Given the description of an element on the screen output the (x, y) to click on. 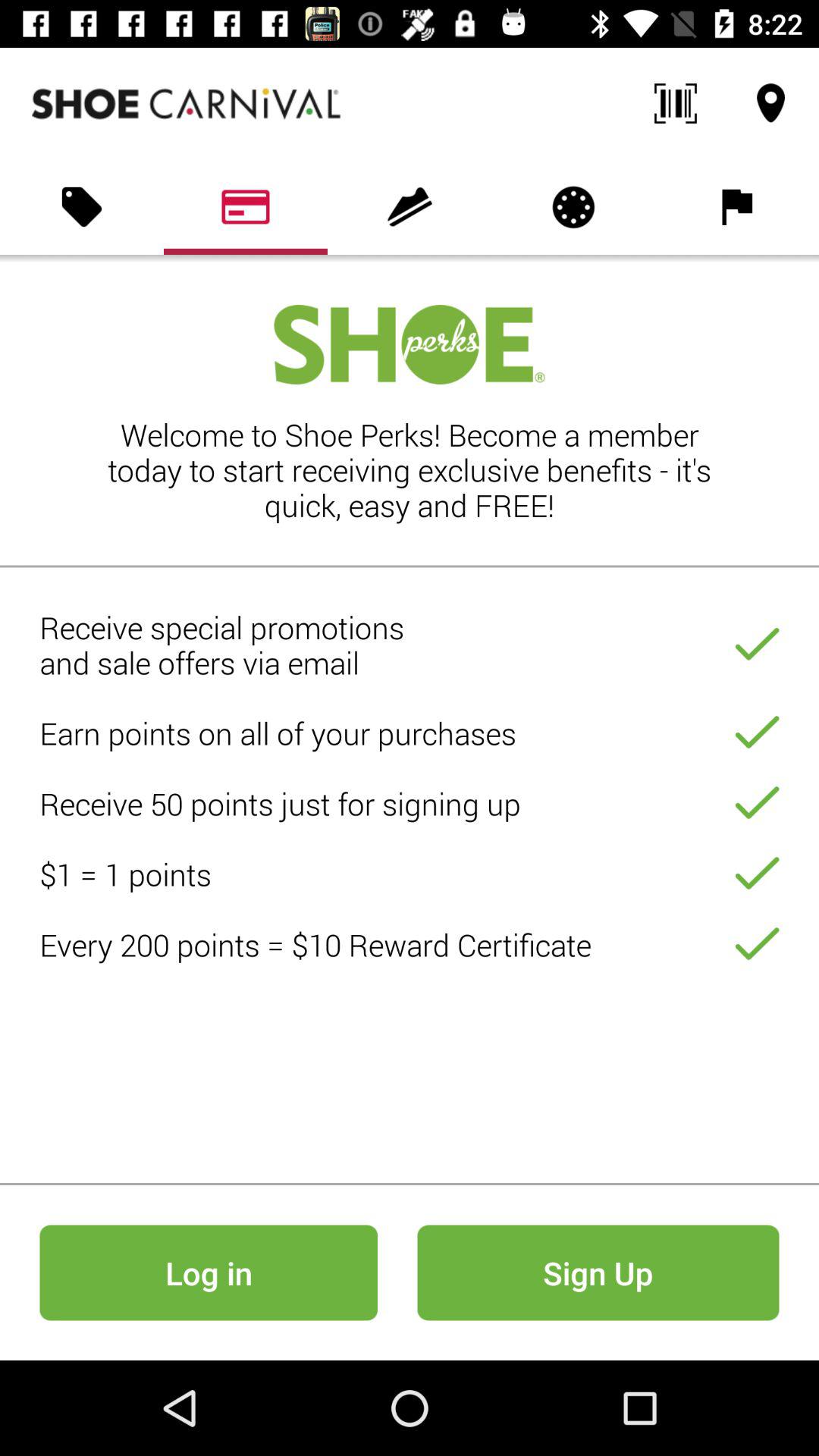
choose the icon next to log in (598, 1272)
